Given the description of an element on the screen output the (x, y) to click on. 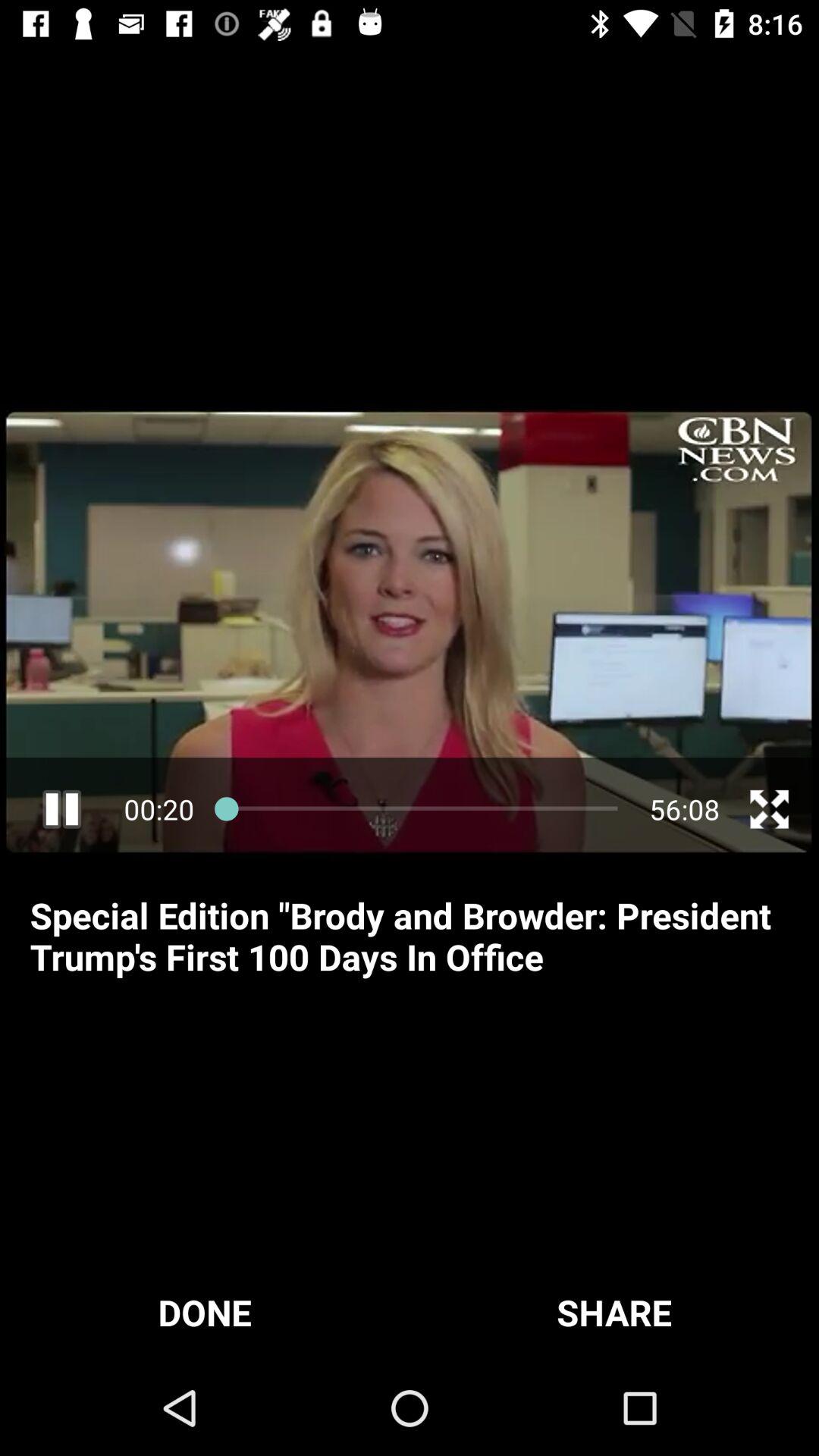
pause (61, 809)
